Given the description of an element on the screen output the (x, y) to click on. 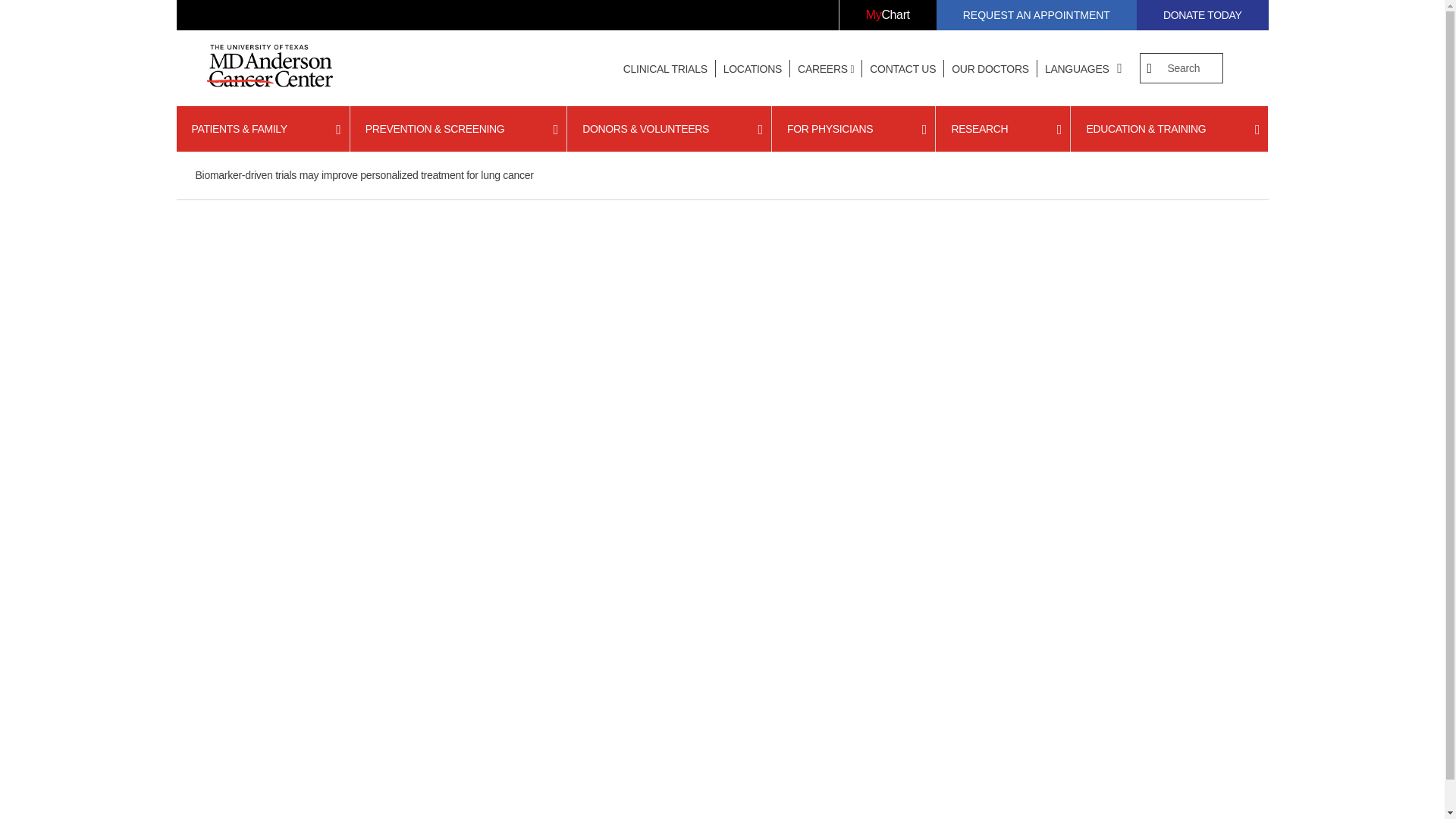
OUR DOCTORS (989, 69)
CAREERS (825, 69)
CLINICAL TRIALS (664, 69)
CONTACT US (902, 69)
MyChart (888, 15)
 Opens a new window (888, 15)
LOCATIONS (752, 69)
